Given the description of an element on the screen output the (x, y) to click on. 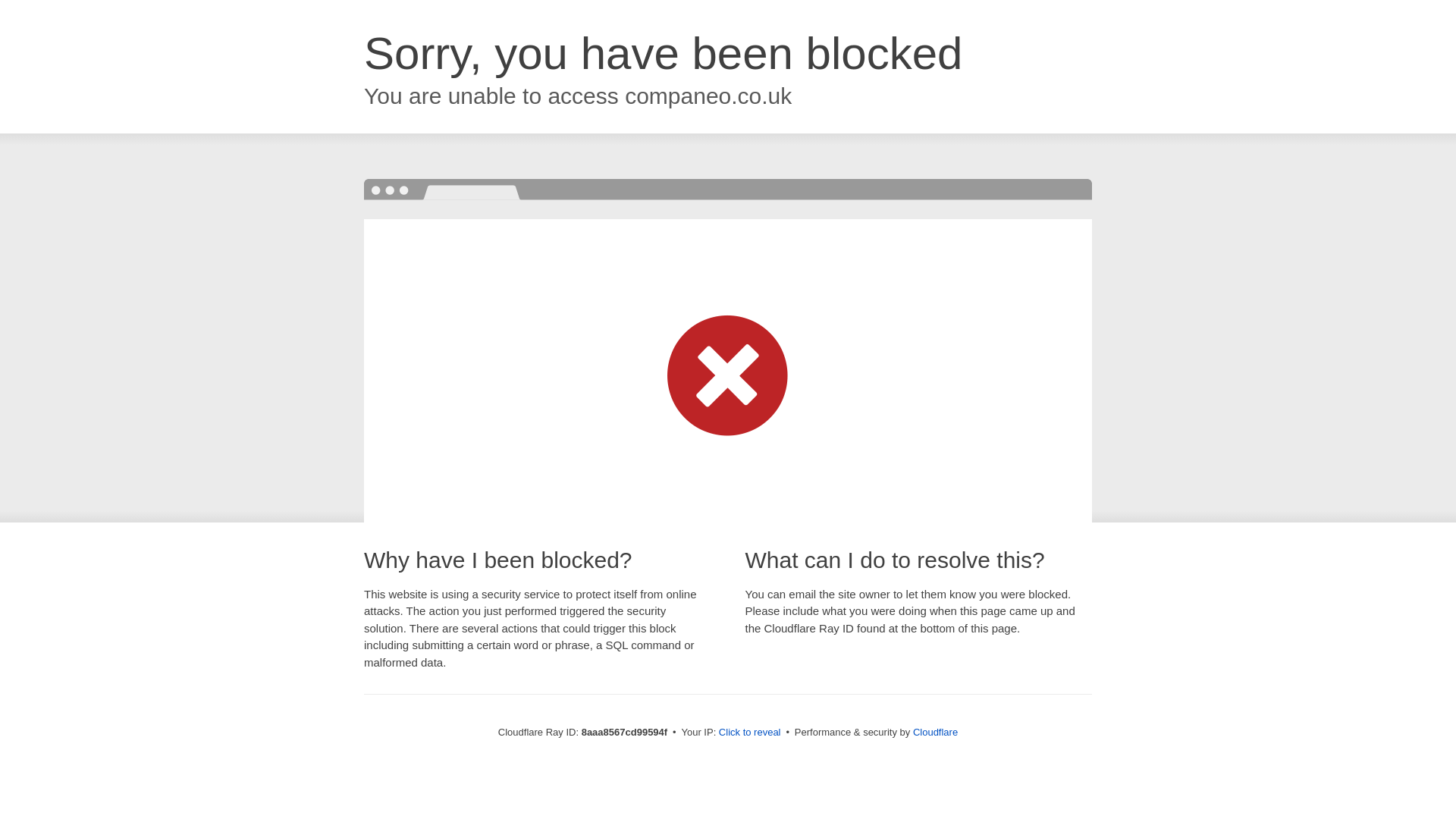
Cloudflare (935, 731)
Click to reveal (749, 732)
